Given the description of an element on the screen output the (x, y) to click on. 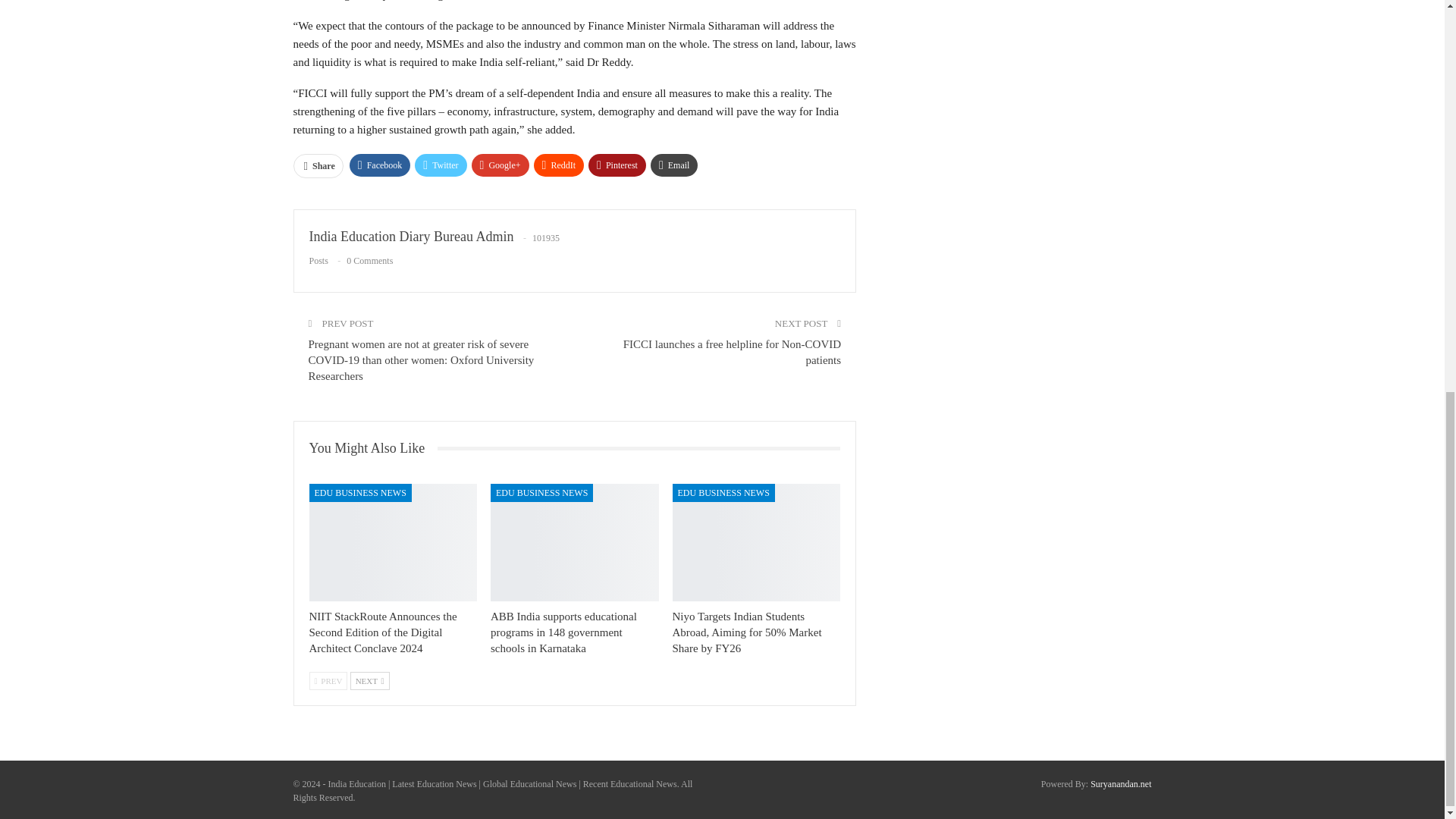
Previous (327, 680)
Next (370, 680)
